Given the description of an element on the screen output the (x, y) to click on. 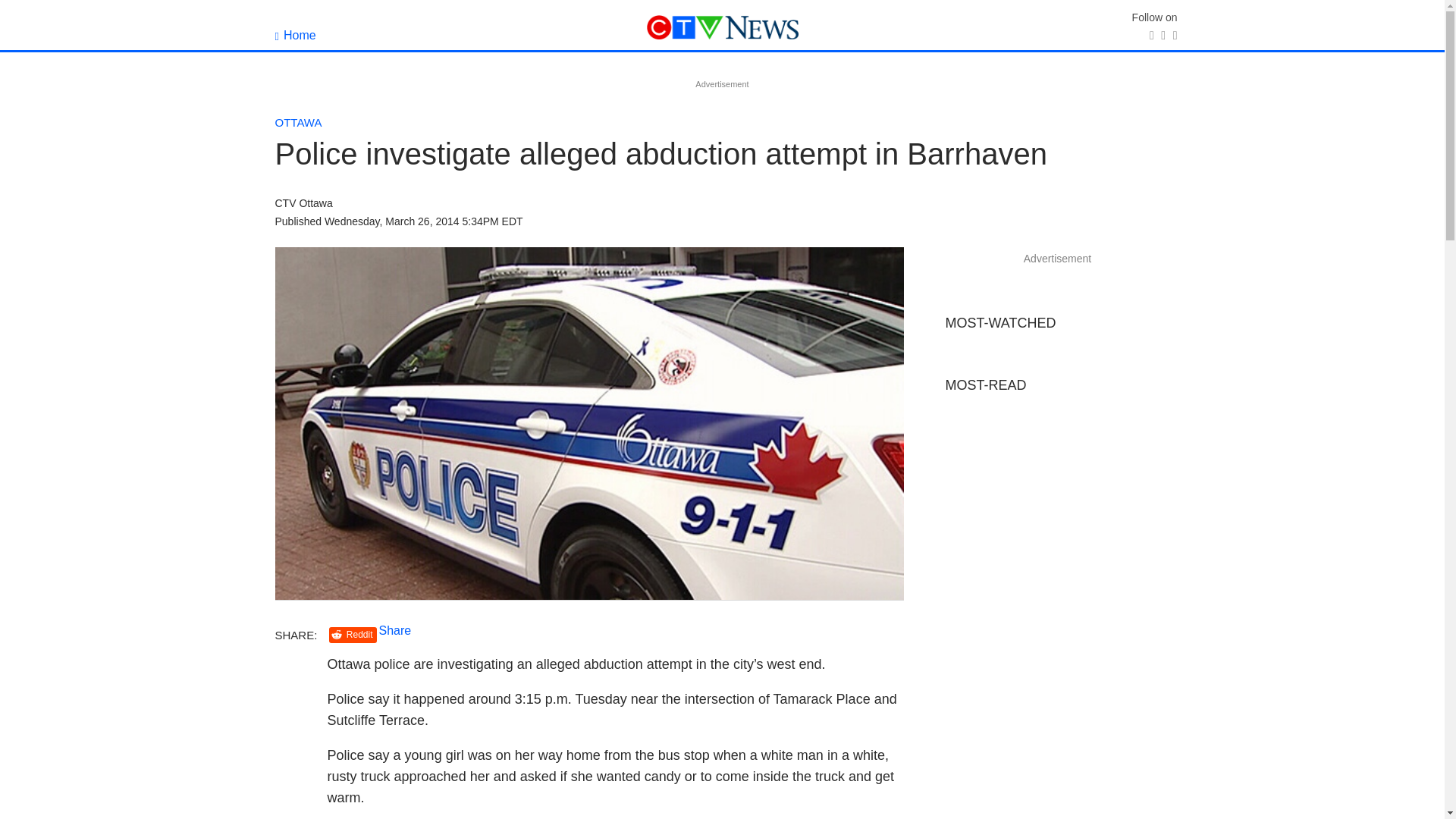
Share (395, 630)
Home (295, 34)
Reddit (353, 634)
OTTAWA (298, 122)
